Given the description of an element on the screen output the (x, y) to click on. 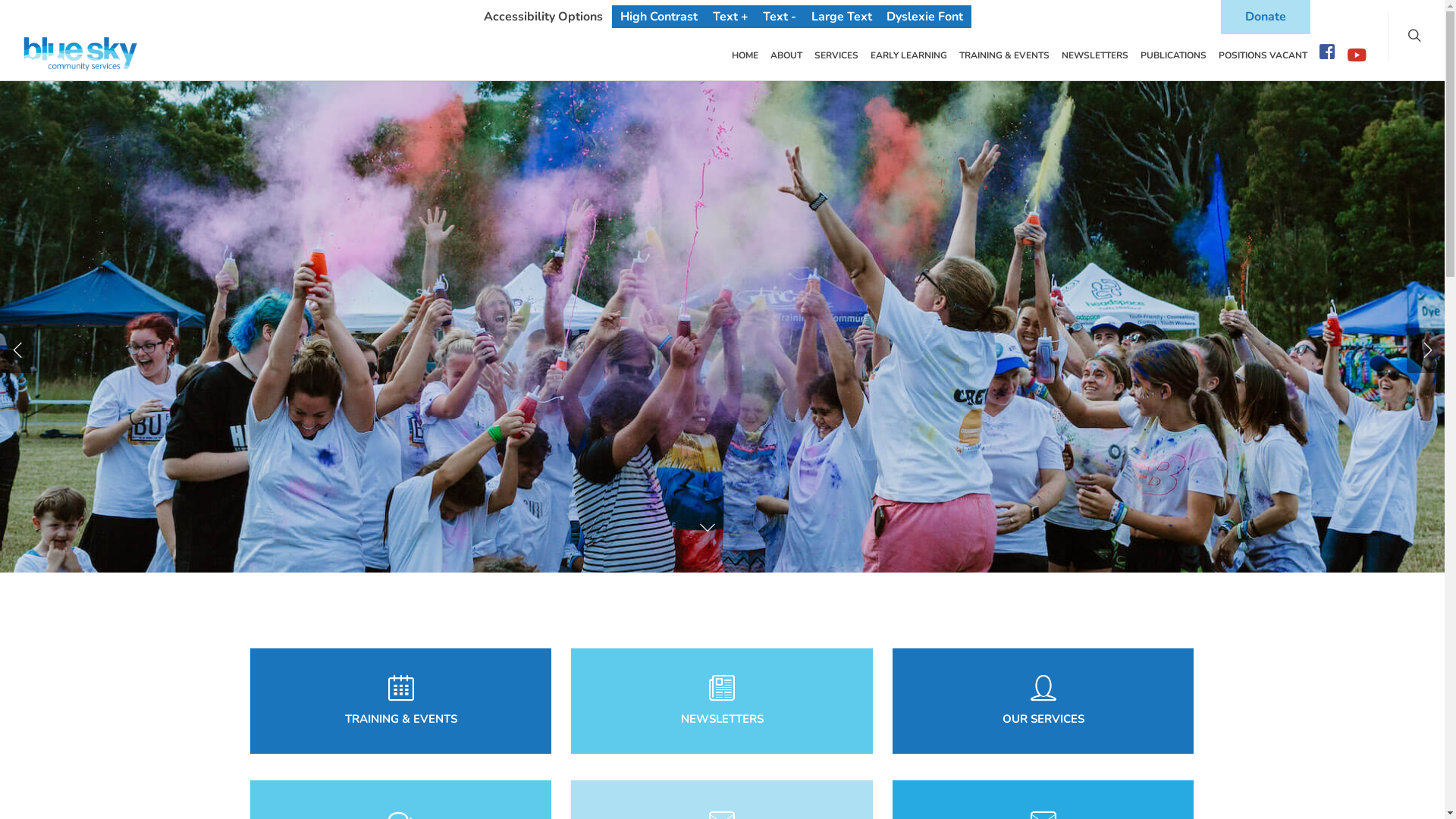
Like Blue Sky Community Services on Facebook Element type: hover (1326, 54)
PUBLICATIONS Element type: text (1173, 55)
HOME Element type: text (744, 55)
SERVICES Element type: text (836, 55)
NEWSLETTERS Element type: text (1094, 55)
TRAINING & EVENTS Element type: text (1003, 55)
EARLY LEARNING Element type: text (908, 55)
POSITIONS VACANT Element type: text (1262, 55)
Donate Element type: text (1265, 16)
ABOUT Element type: text (786, 55)
